Given the description of an element on the screen output the (x, y) to click on. 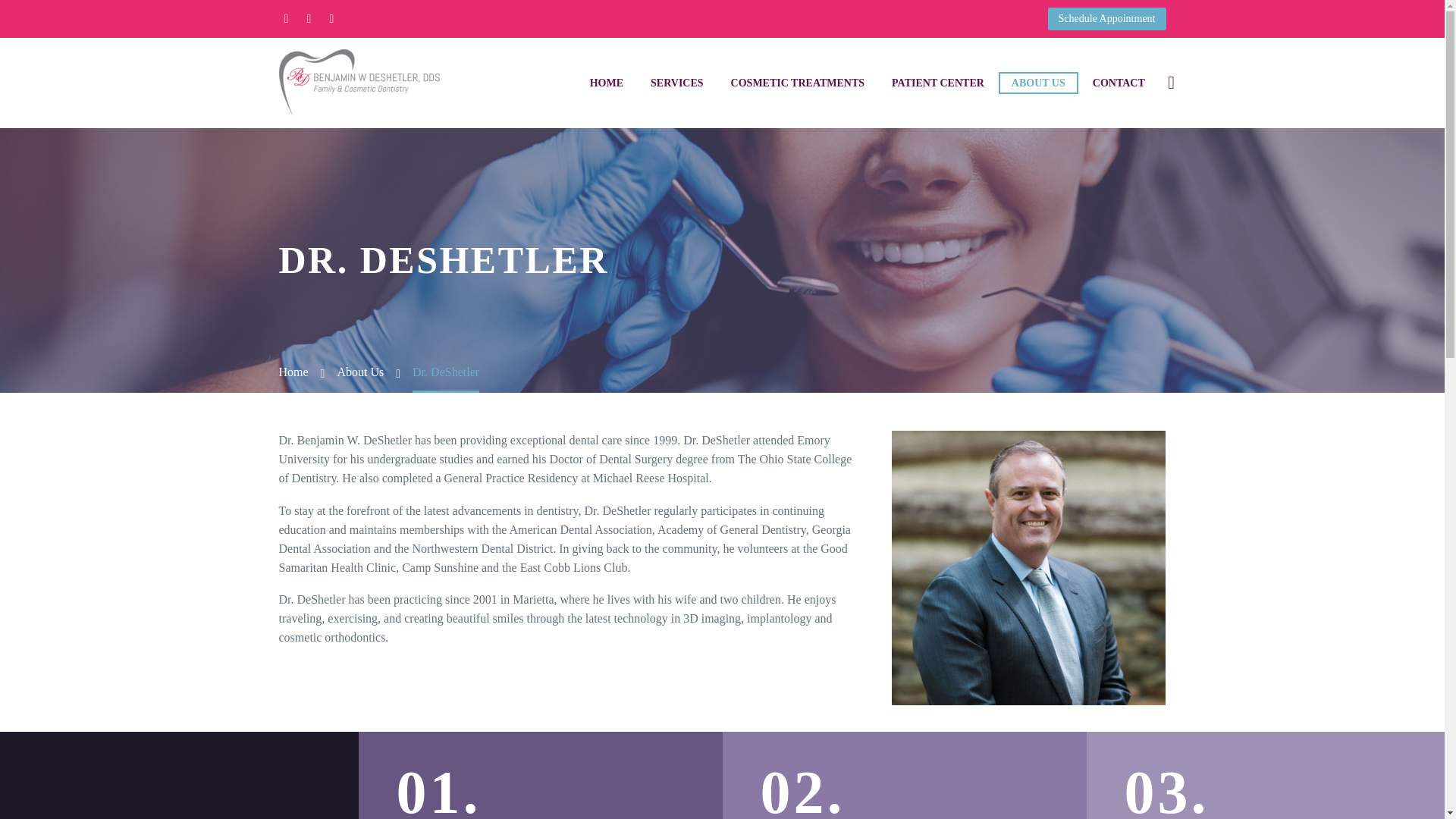
Google (331, 19)
ABOUT US (1038, 83)
SERVICES (676, 82)
CONTACT (1118, 82)
COSMETIC TREATMENTS (797, 82)
Twitter (308, 19)
Facebook (286, 19)
PATIENT CENTER (937, 82)
HOME (606, 82)
Schedule Appointment (1107, 18)
